Given the description of an element on the screen output the (x, y) to click on. 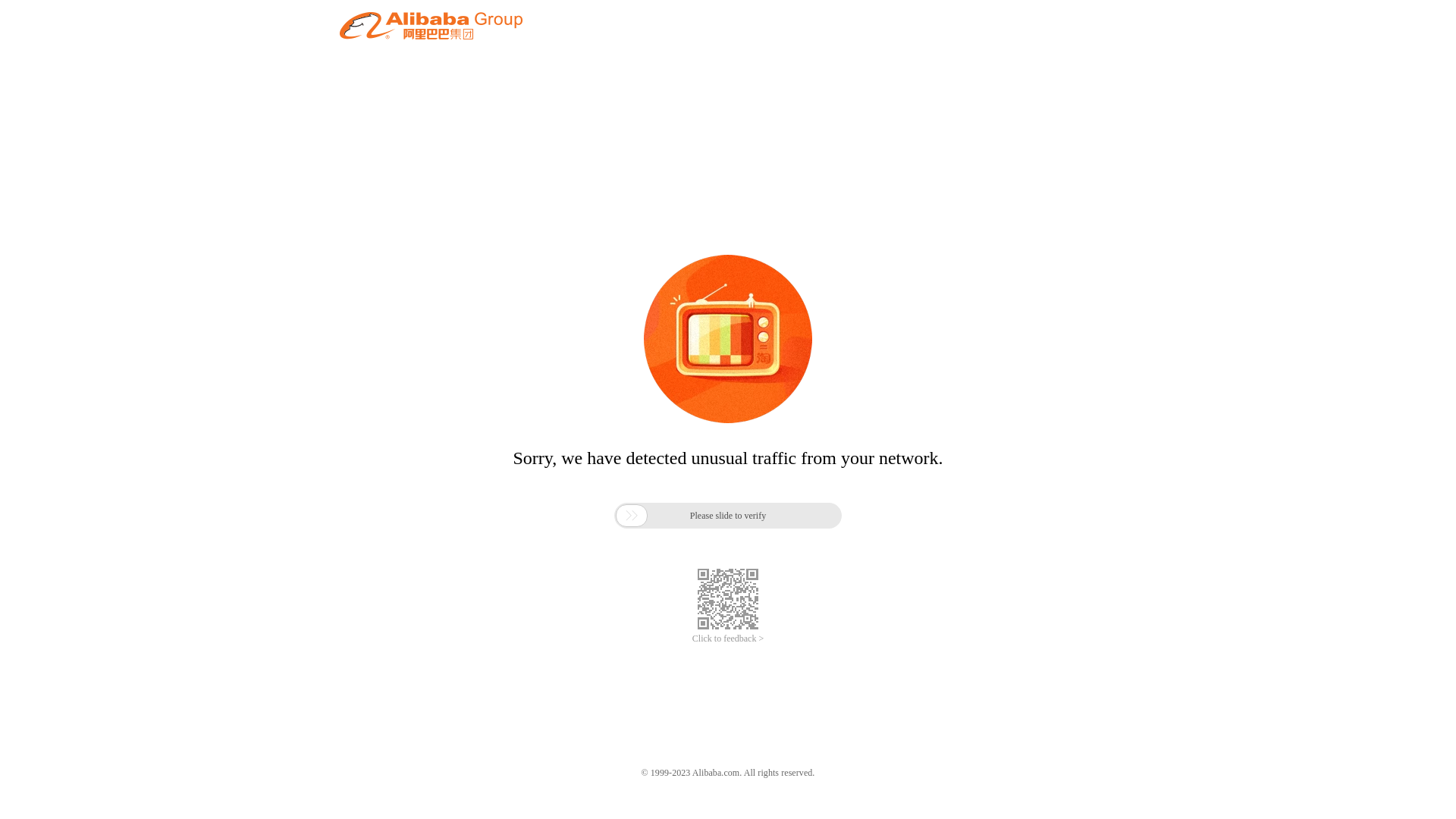
Click to feedback > Element type: text (727, 638)
